Given the description of an element on the screen output the (x, y) to click on. 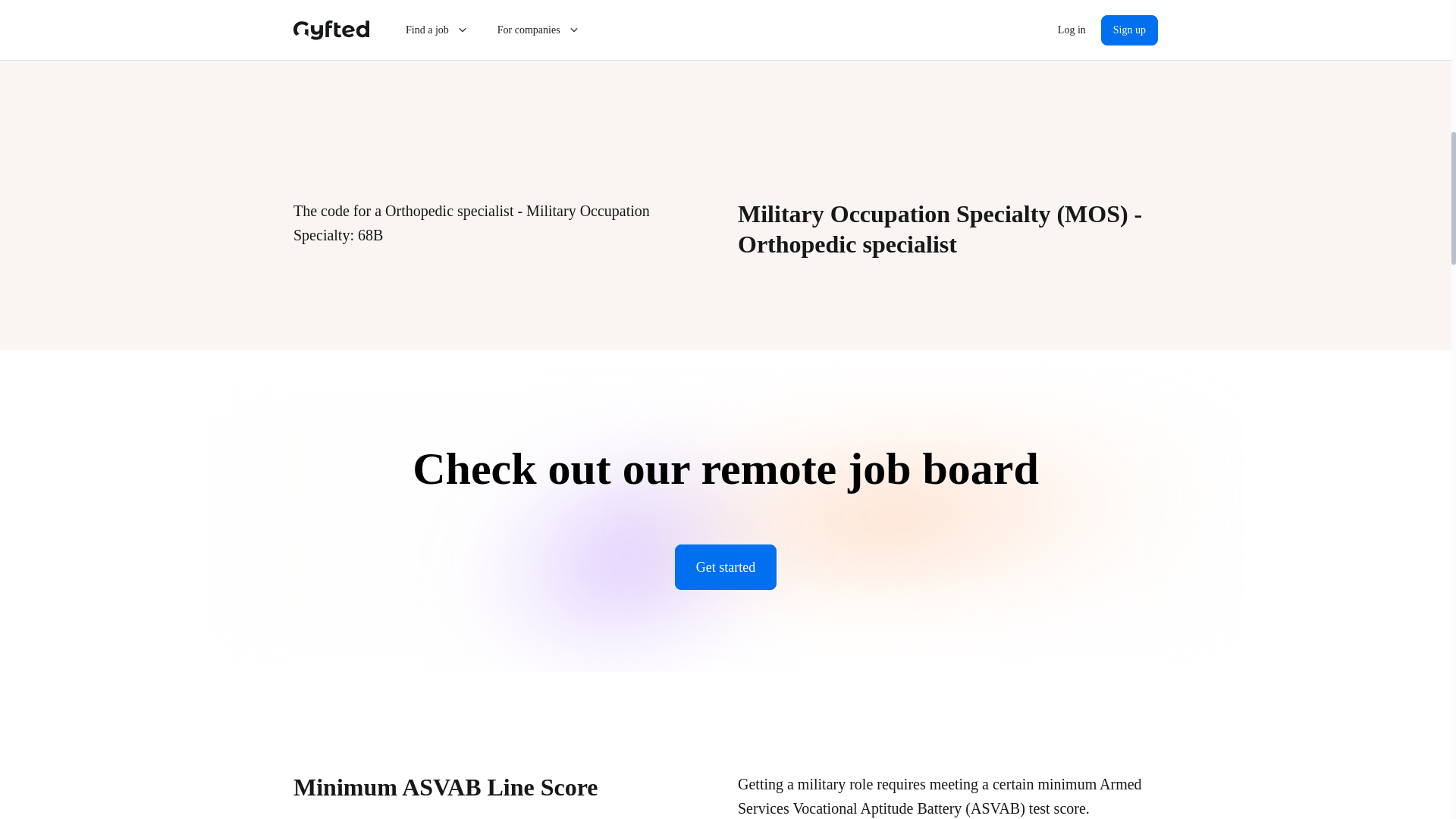
Get started (725, 566)
